Given the description of an element on the screen output the (x, y) to click on. 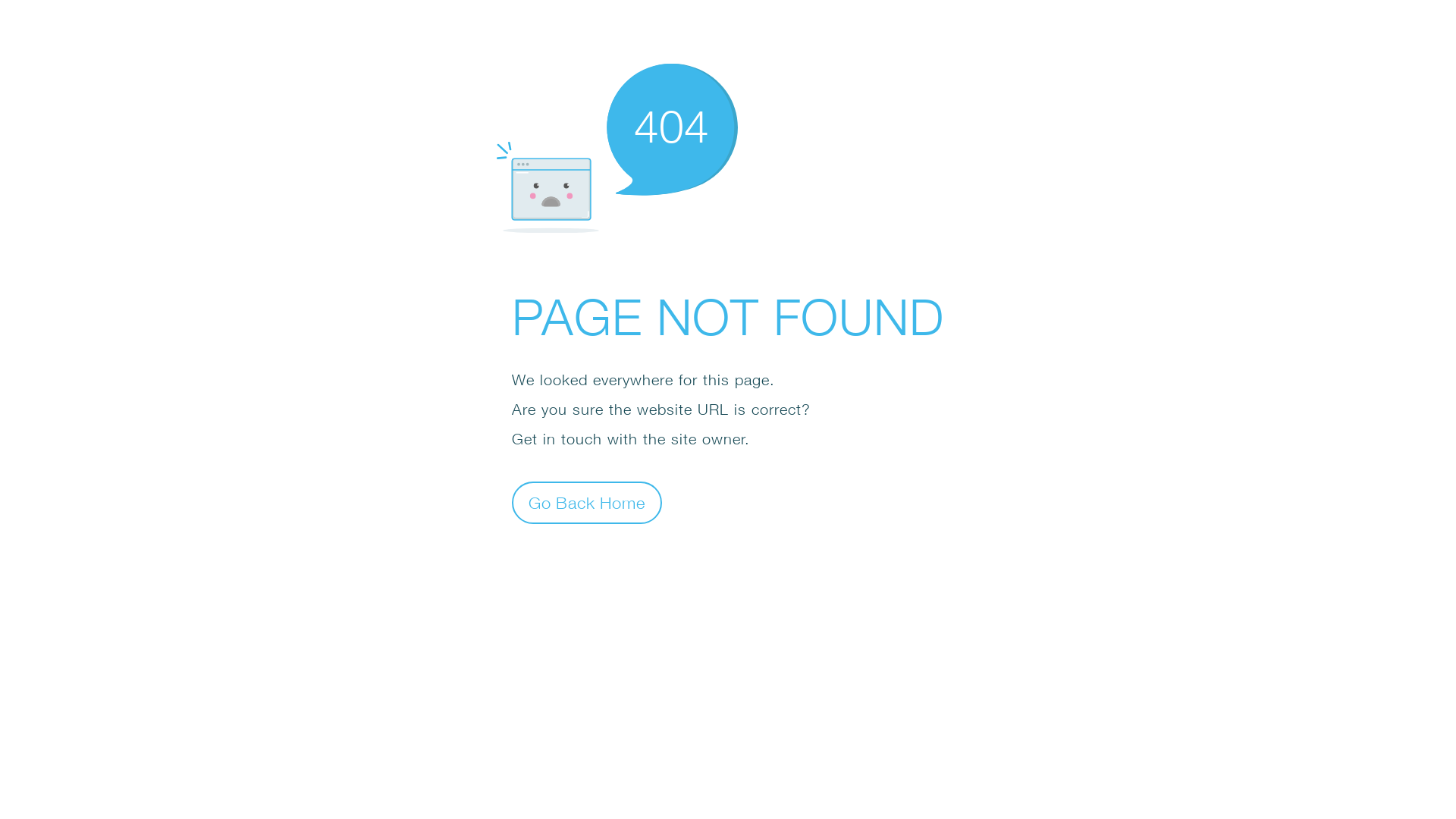
Go Back Home Element type: text (586, 502)
